Given the description of an element on the screen output the (x, y) to click on. 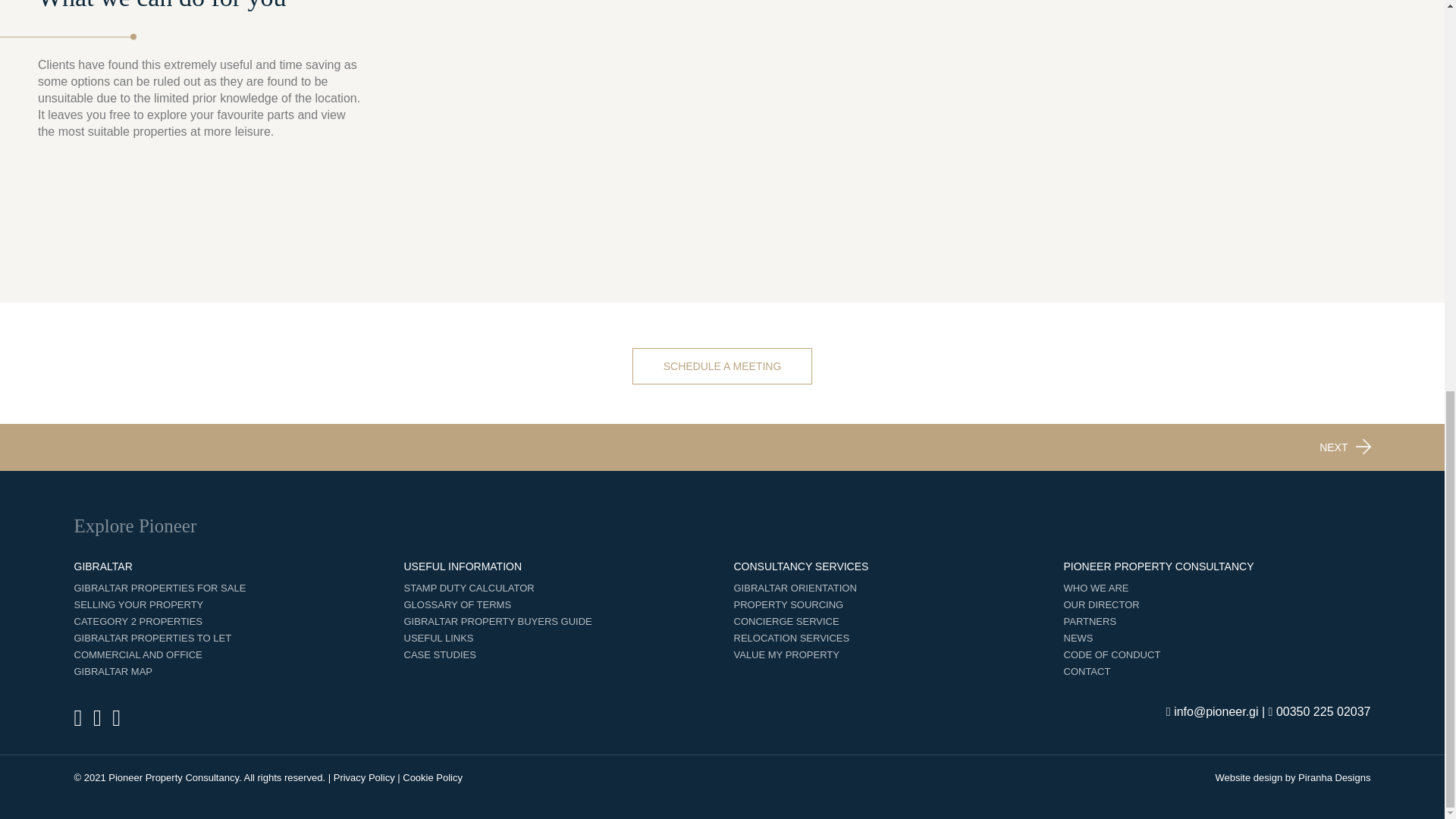
Gibraltar (103, 566)
Next (1333, 447)
Pioneer Property Consultancy (1157, 566)
Useful Information (462, 566)
Schedule a meeting (721, 366)
Consultancy Services (801, 566)
